Given the description of an element on the screen output the (x, y) to click on. 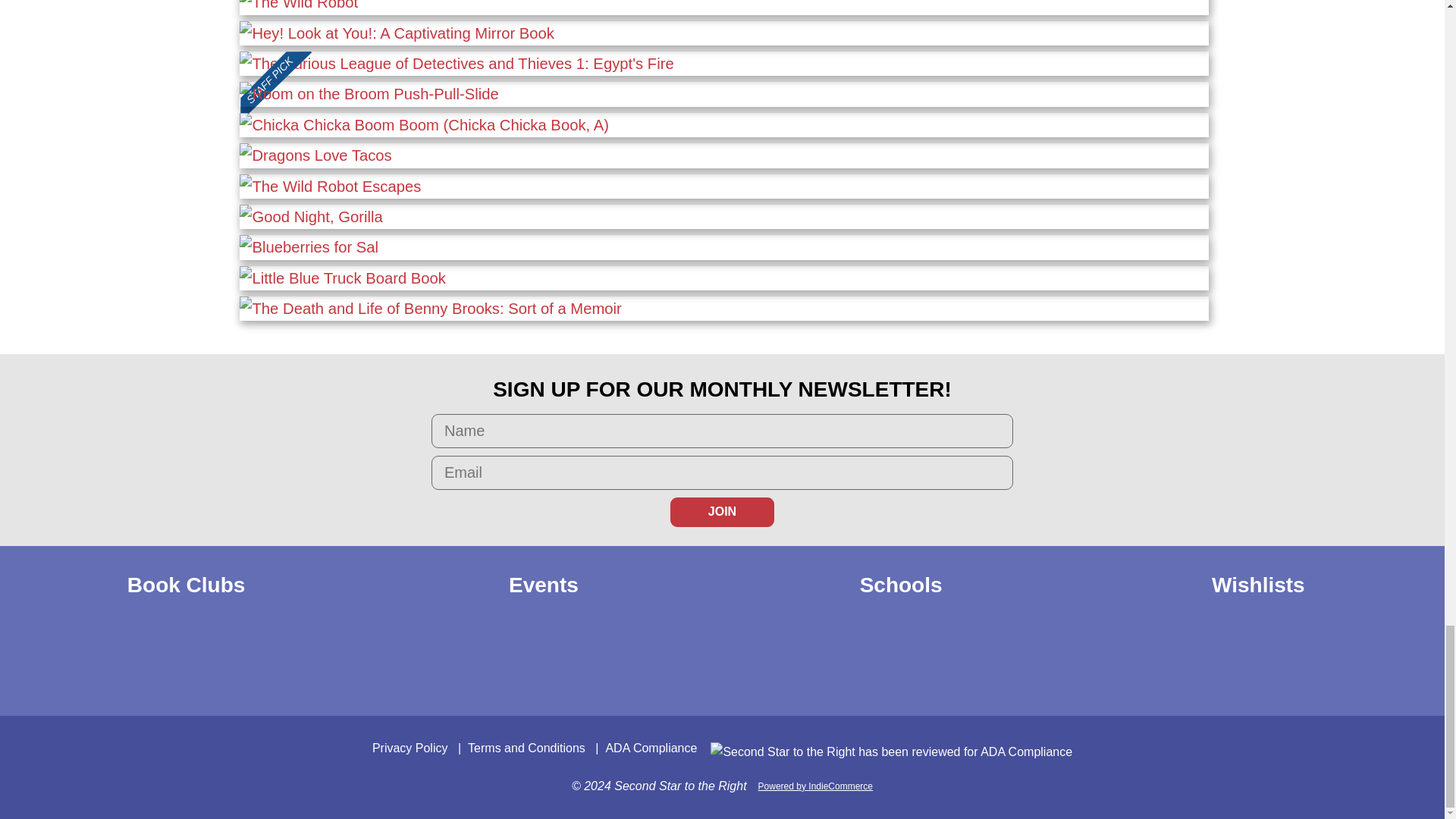
Join (721, 511)
Connect with Youtube Channel (721, 662)
Connect with Tik Tok (754, 662)
Connect with X (787, 662)
Connect with Instagram (688, 662)
Connect with Facebook (655, 662)
